Given the description of an element on the screen output the (x, y) to click on. 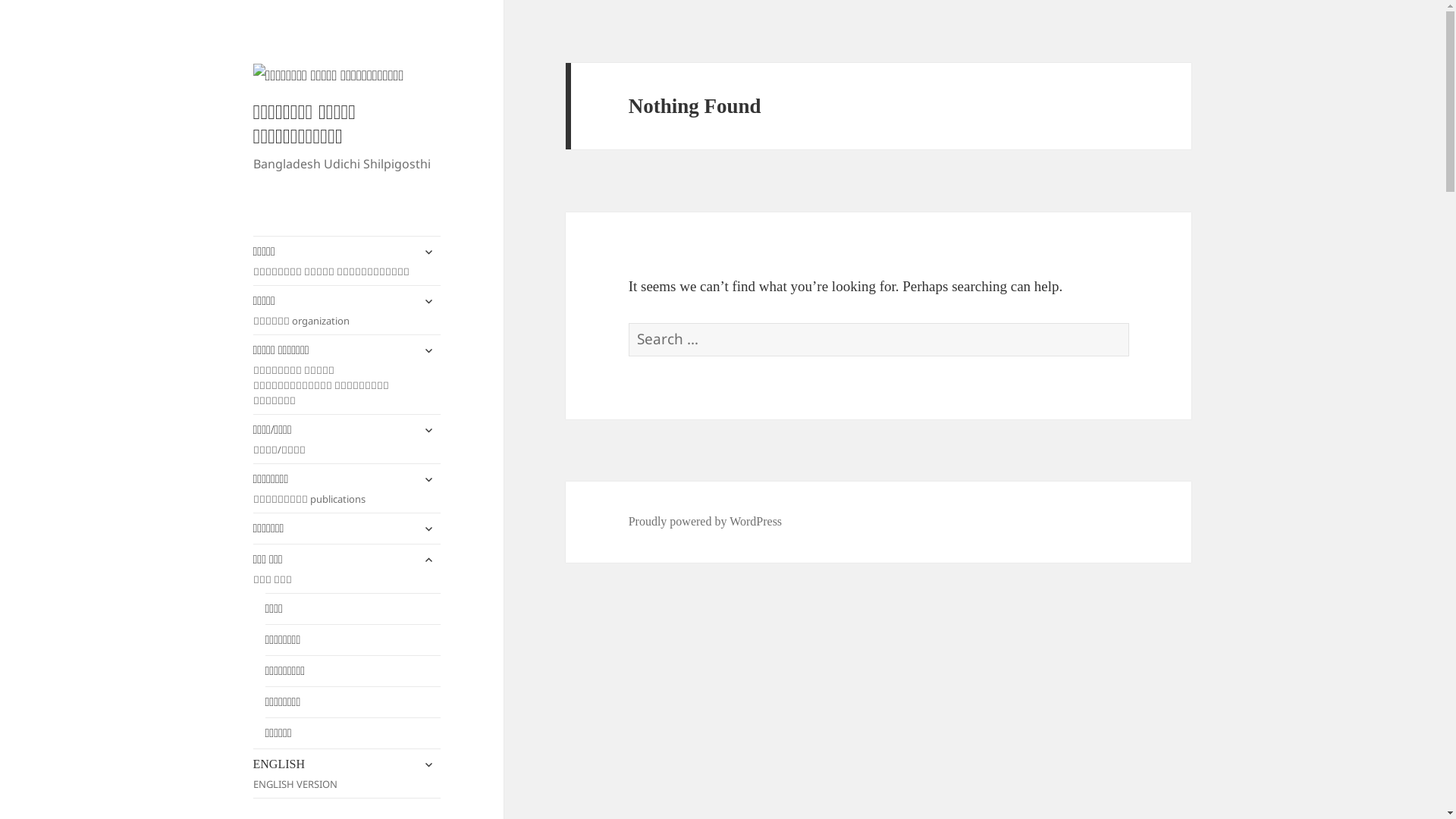
Proudly powered by WordPress Element type: text (704, 521)
expand child menu Element type: text (428, 350)
expand child menu Element type: text (428, 559)
expand child menu Element type: text (428, 251)
expand child menu Element type: text (428, 479)
expand child menu Element type: text (428, 764)
ENGLISH
ENGLISH VERSION Element type: text (347, 773)
Search Element type: text (1128, 322)
expand child menu Element type: text (428, 429)
expand child menu Element type: text (428, 528)
expand child menu Element type: text (428, 300)
